Given the description of an element on the screen output the (x, y) to click on. 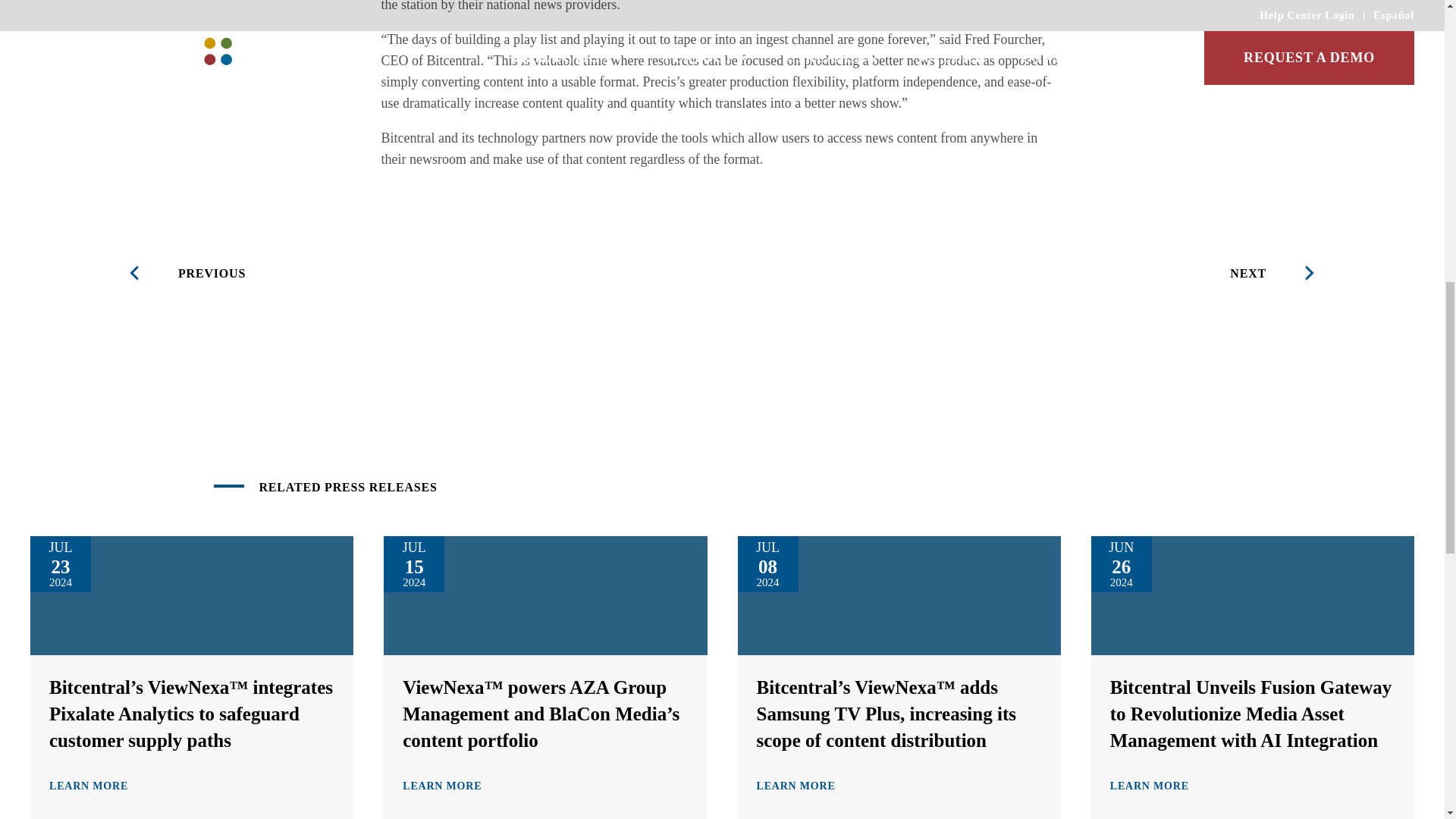
PREVIOUS (181, 273)
NEXT (1278, 273)
